Given the description of an element on the screen output the (x, y) to click on. 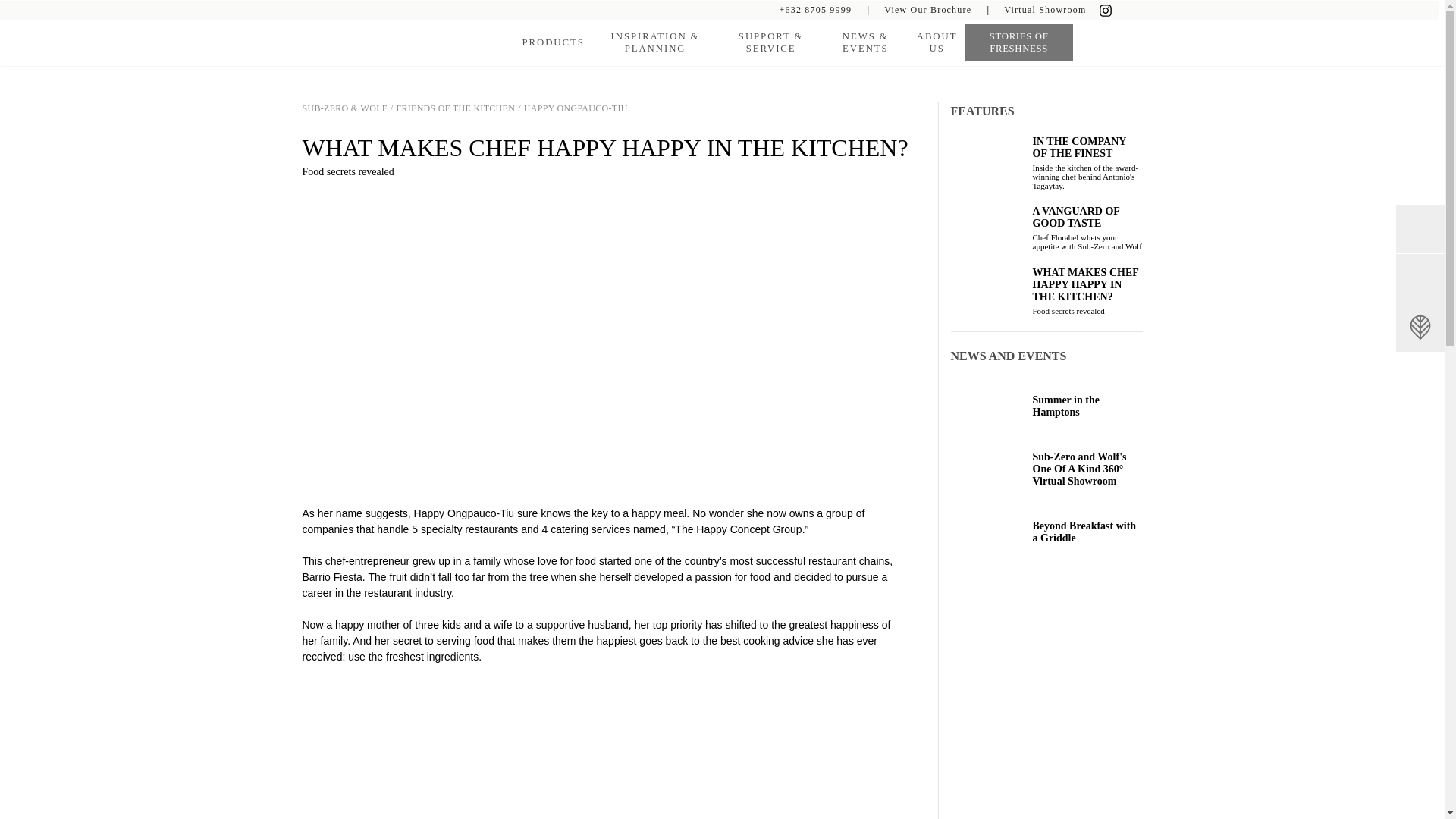
Virtual Showroom (1045, 9)
View Our Brochure (927, 9)
